Given the description of an element on the screen output the (x, y) to click on. 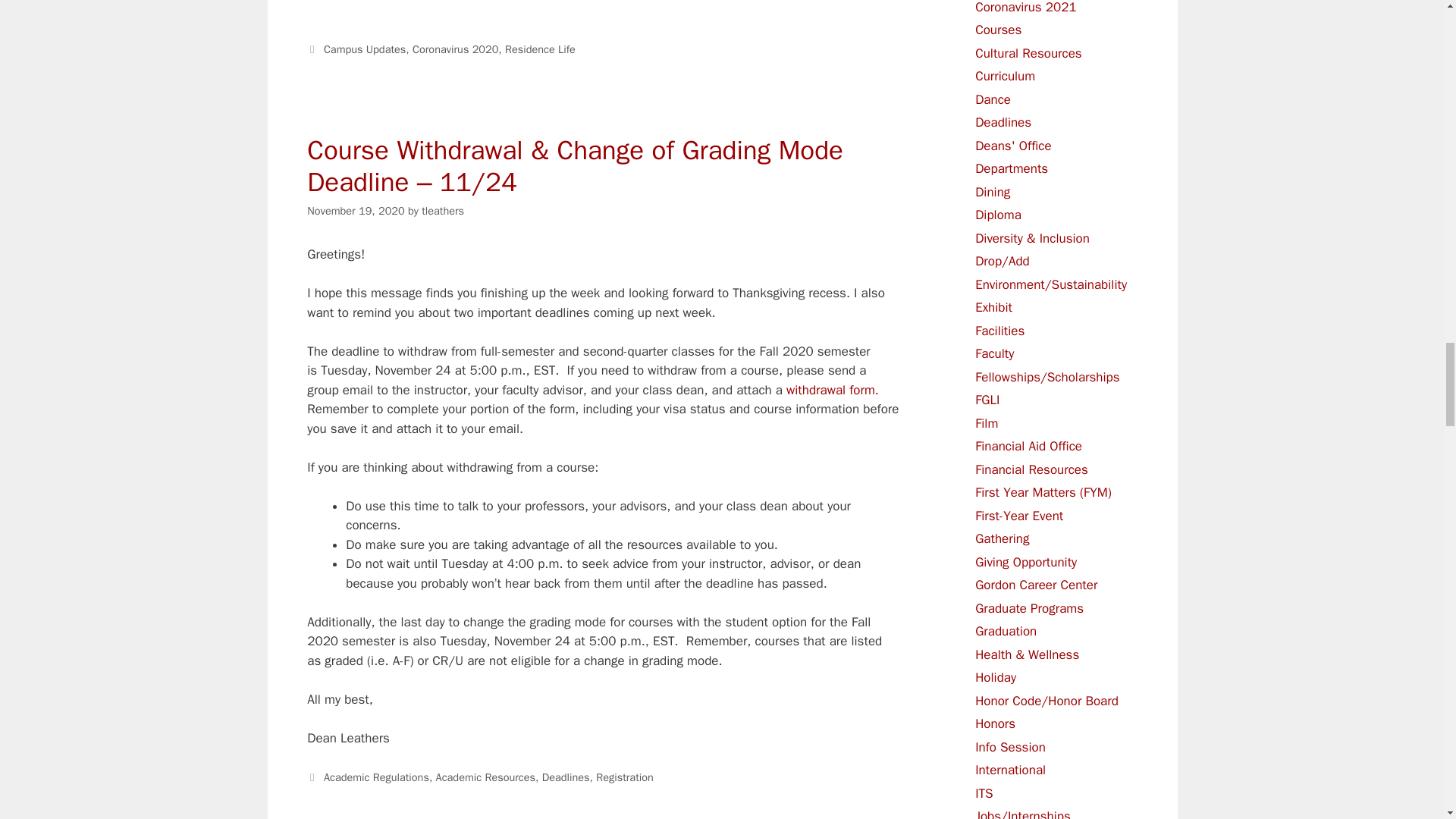
View all posts by tleathers (443, 210)
